Given the description of an element on the screen output the (x, y) to click on. 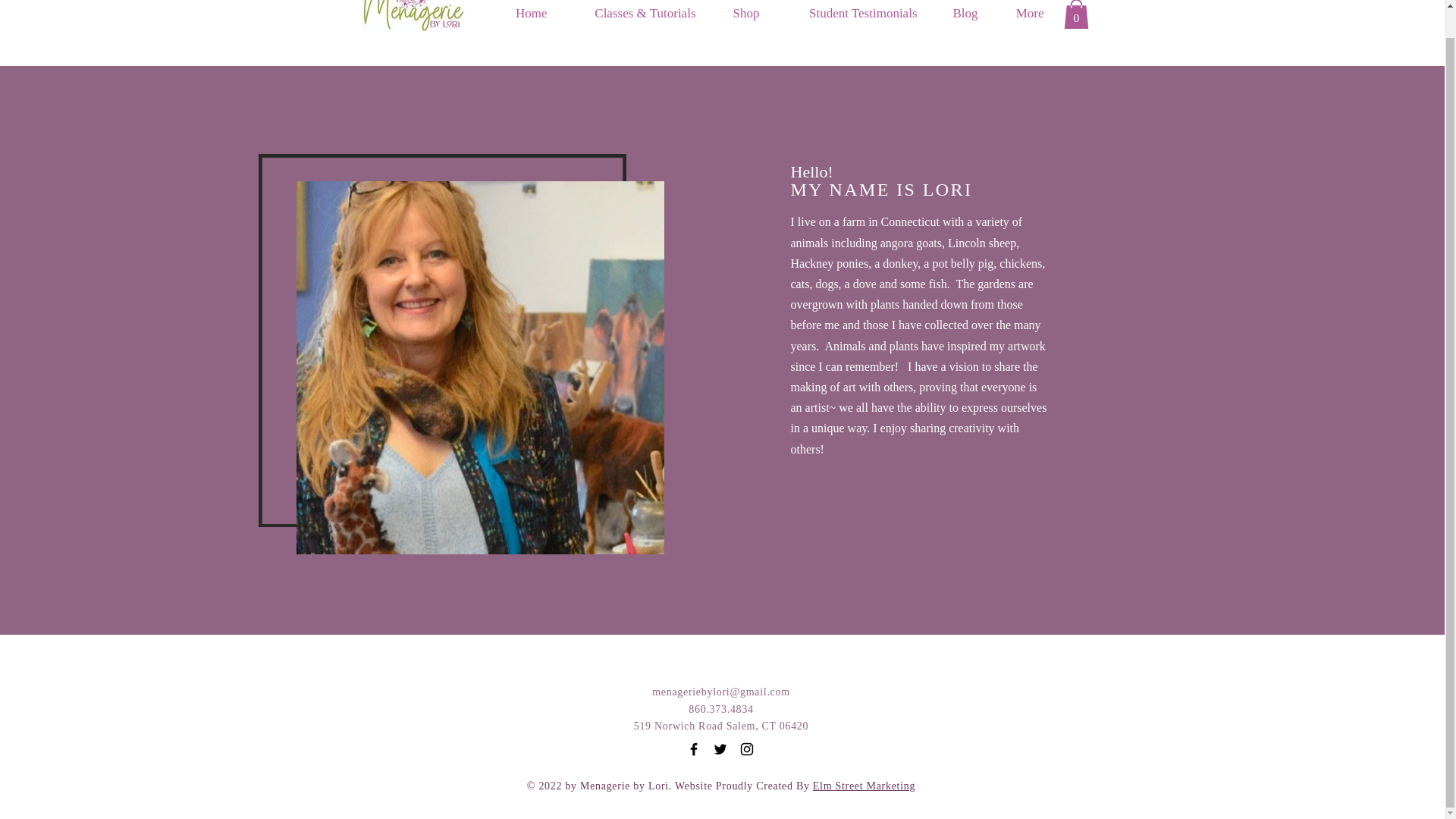
Student Testimonials (849, 16)
Elm Street Marketing (863, 785)
Home (523, 16)
Blog (958, 16)
